Given the description of an element on the screen output the (x, y) to click on. 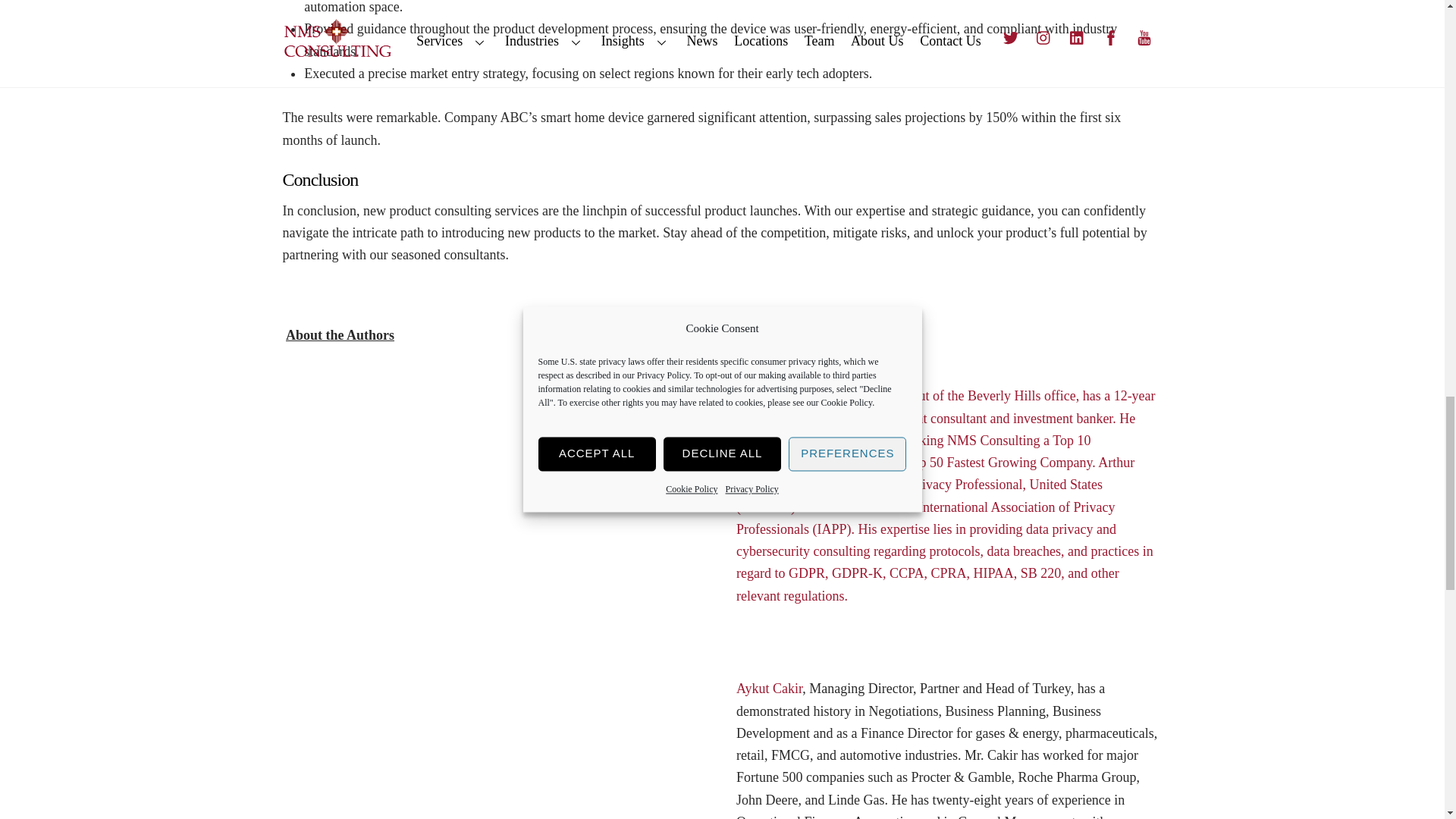
Arthur Mansourian (376, 479)
aykut new2 (376, 686)
